Given the description of an element on the screen output the (x, y) to click on. 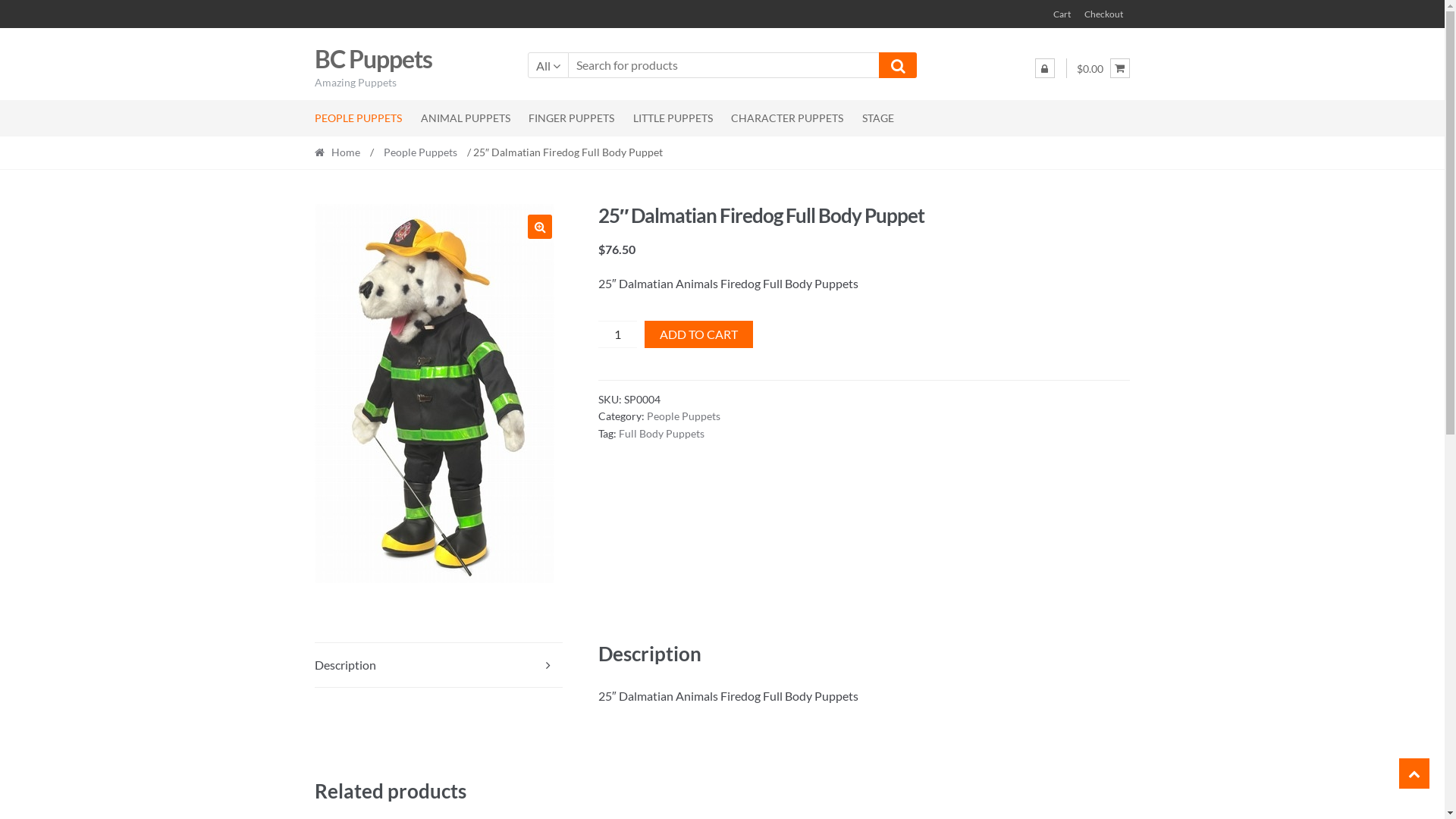
ADD TO CART Element type: text (698, 334)
Full Body Puppets Element type: text (661, 432)
Qty Element type: hover (617, 334)
Login / Register Element type: hover (1044, 68)
$0.00 Element type: text (1102, 69)
Silly_Puppets_Dalmation_Firedog_SP0004.jpg Element type: hover (434, 393)
Checkout Element type: text (1103, 14)
STAGE Element type: text (878, 117)
BC Puppets Element type: text (373, 58)
People Puppets Element type: text (420, 151)
FINGER PUPPETS Element type: text (571, 117)
CHARACTER PUPPETS Element type: text (787, 117)
LITTLE PUPPETS Element type: text (673, 117)
Home Element type: text (340, 151)
ANIMAL PUPPETS Element type: text (465, 117)
People Puppets Element type: text (683, 415)
Cart Element type: text (1061, 14)
Description Element type: text (438, 665)
PEOPLE PUPPETS Element type: text (362, 117)
